Given the description of an element on the screen output the (x, y) to click on. 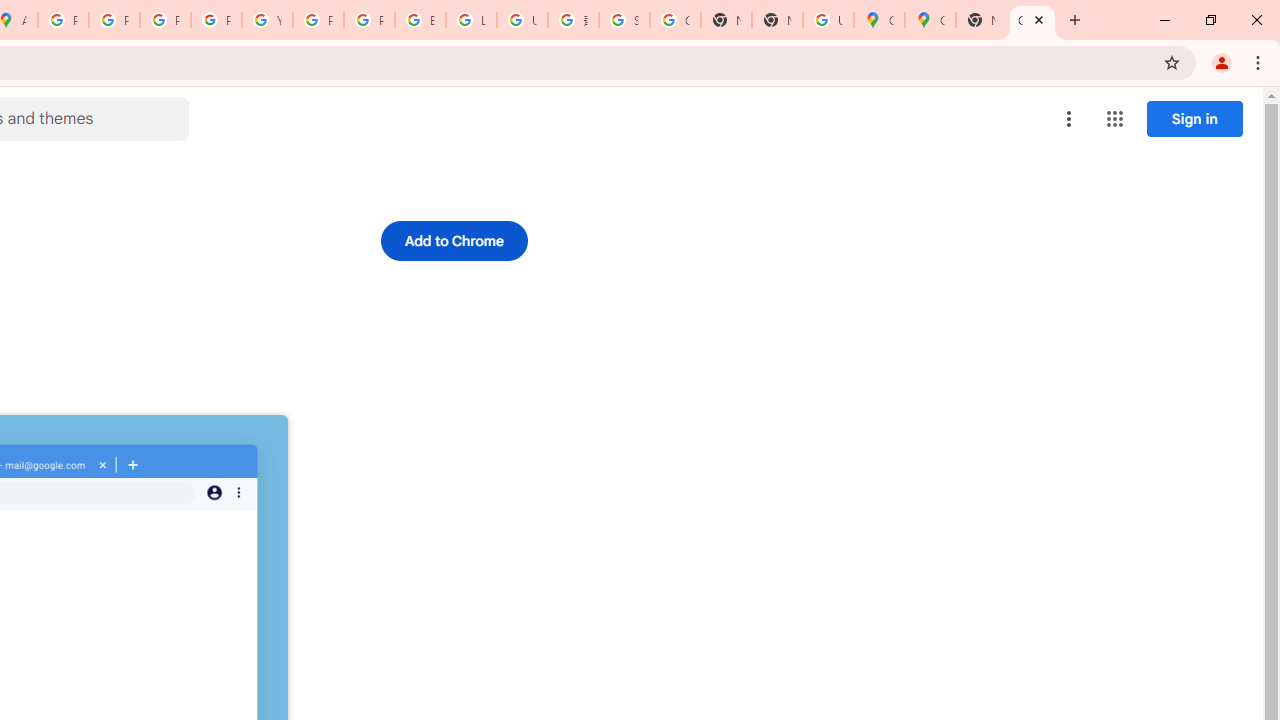
New Tab (981, 20)
Google Maps (930, 20)
YouTube (267, 20)
Classic Blue - Chrome Web Store (1032, 20)
